Given the description of an element on the screen output the (x, y) to click on. 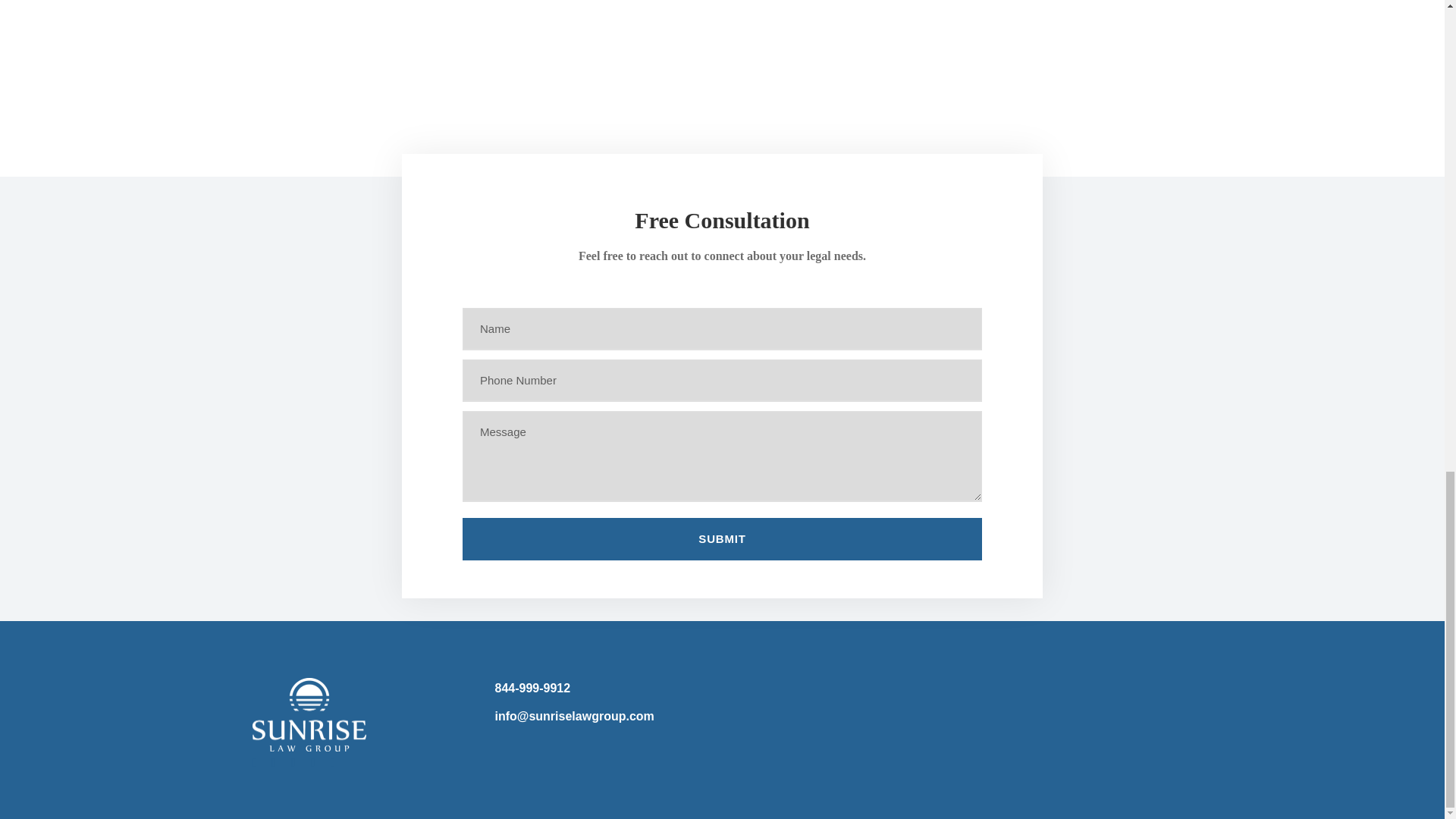
Submit (722, 538)
Submit (722, 538)
